Given the description of an element on the screen output the (x, y) to click on. 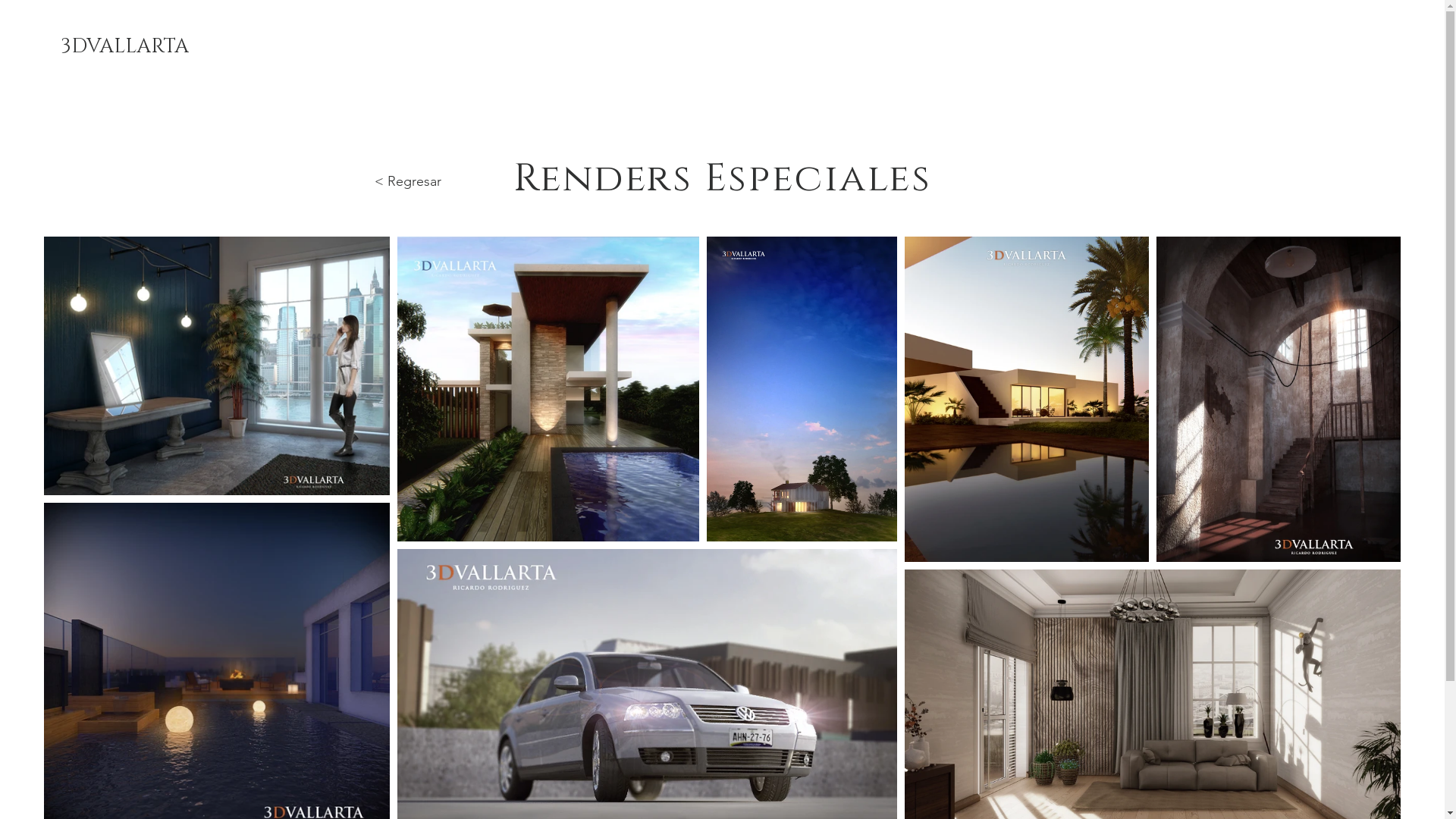
< Regresar Element type: text (407, 180)
3DVALLARTA Element type: text (124, 46)
